Given the description of an element on the screen output the (x, y) to click on. 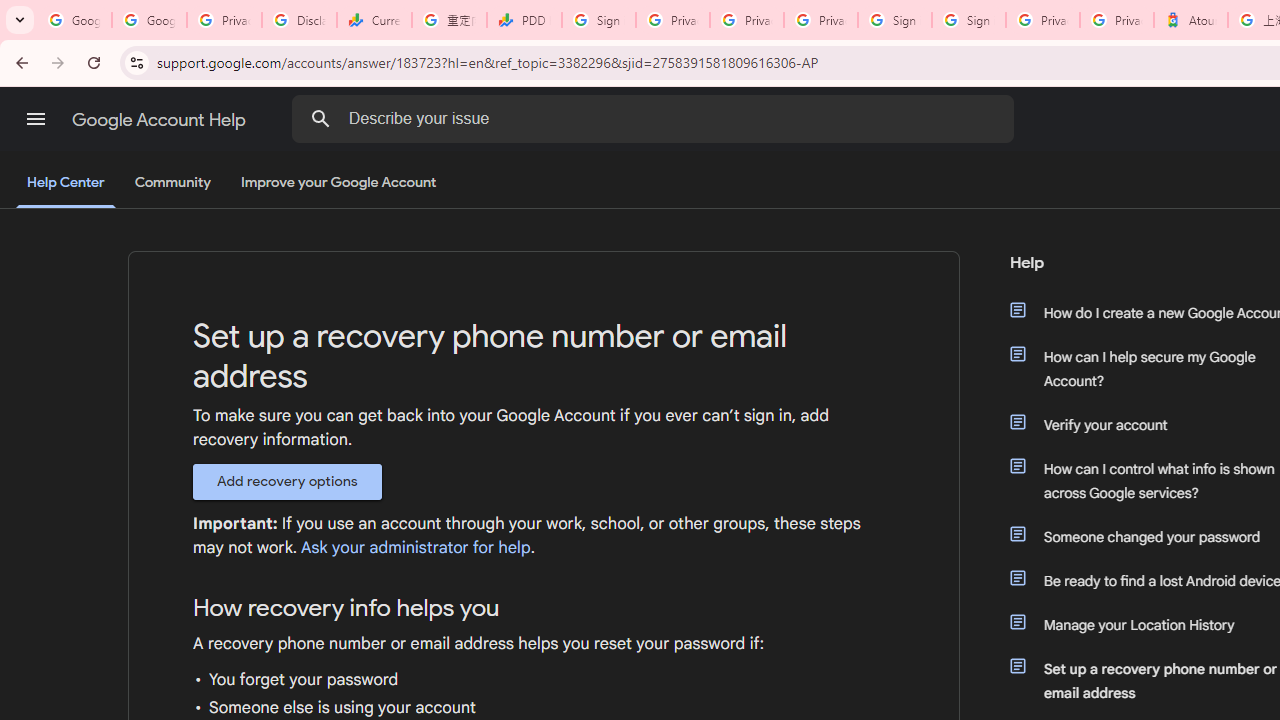
Describe your issue (655, 118)
